Given the description of an element on the screen output the (x, y) to click on. 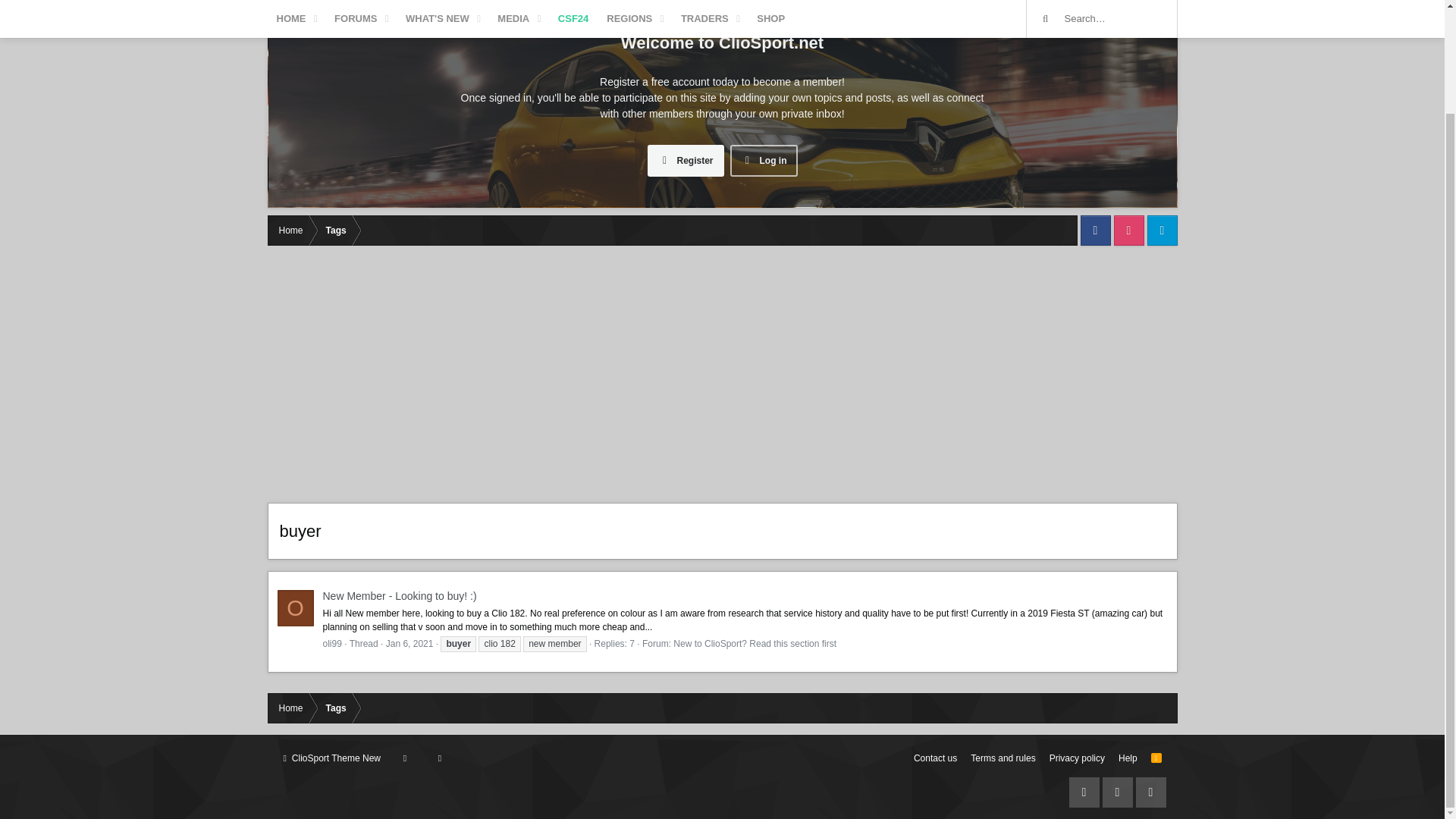
Dark mode (439, 757)
Jan 6, 2021 at 11:39 AM (409, 643)
Style chooser (332, 757)
Customize (405, 757)
